Given the description of an element on the screen output the (x, y) to click on. 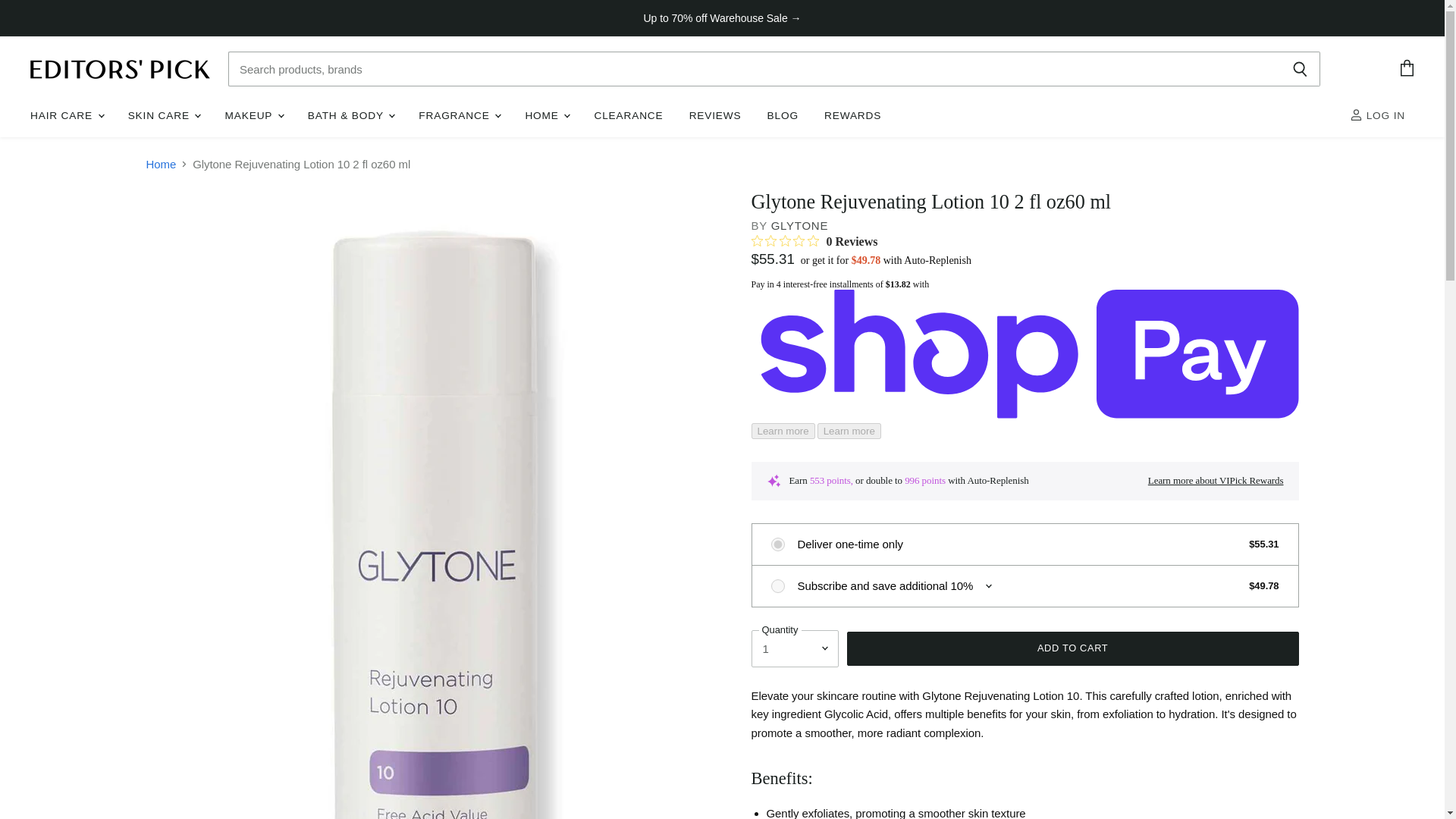
on (777, 544)
Glytone (799, 225)
SKIN CARE (163, 115)
HAIR CARE (65, 115)
ACCOUNT ICON (1355, 114)
0 Reviews (814, 241)
on (777, 585)
